Given the description of an element on the screen output the (x, y) to click on. 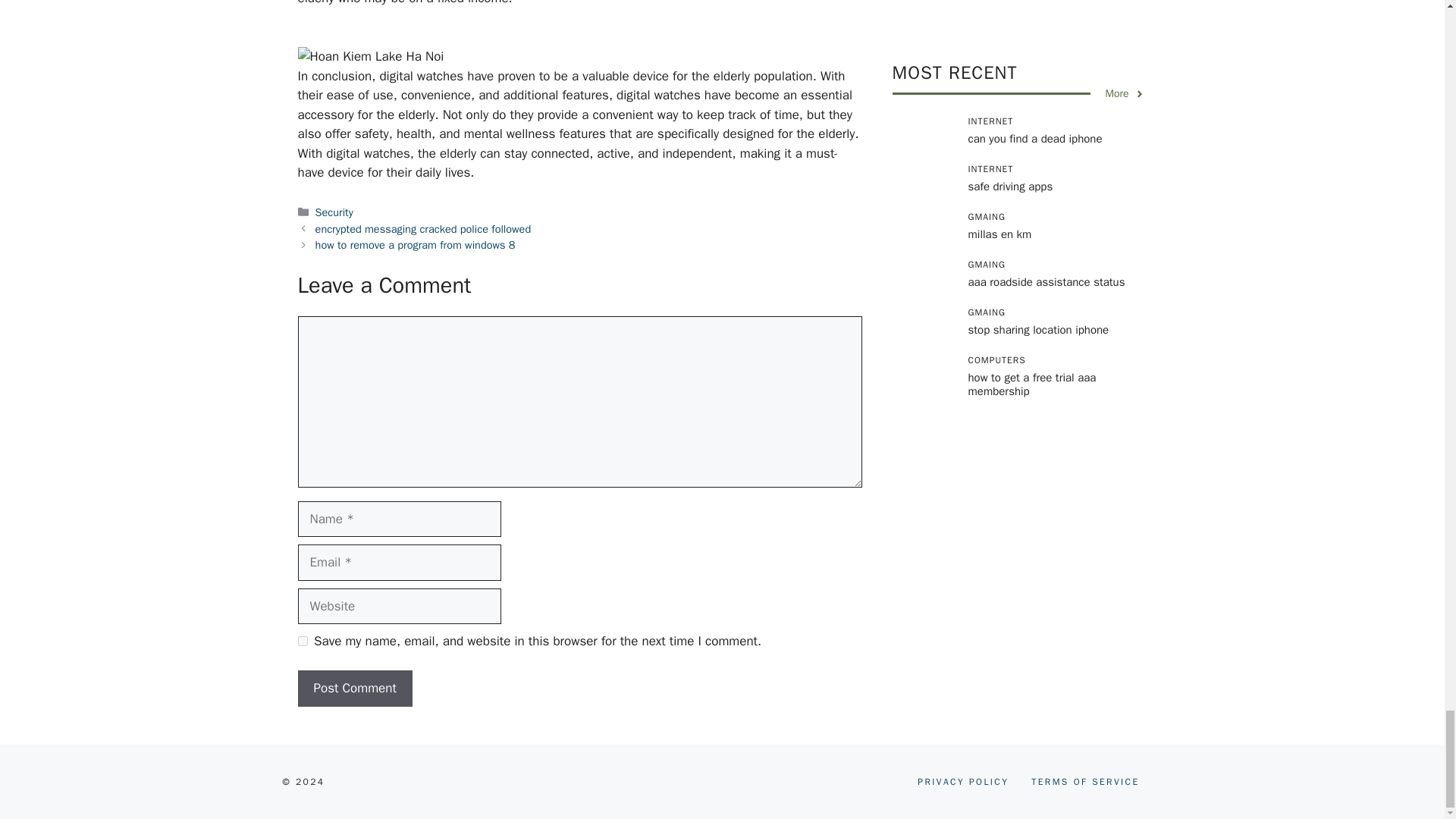
encrypted messaging cracked police followed (423, 228)
yes (302, 641)
TERMS OF SERVICE (1084, 781)
Post Comment (354, 688)
Security (334, 212)
how to remove a program from windows 8 (415, 244)
PRIVACY POLICY (963, 781)
Post Comment (354, 688)
Hoan Kiem Lake Ha Noi (370, 56)
